Given the description of an element on the screen output the (x, y) to click on. 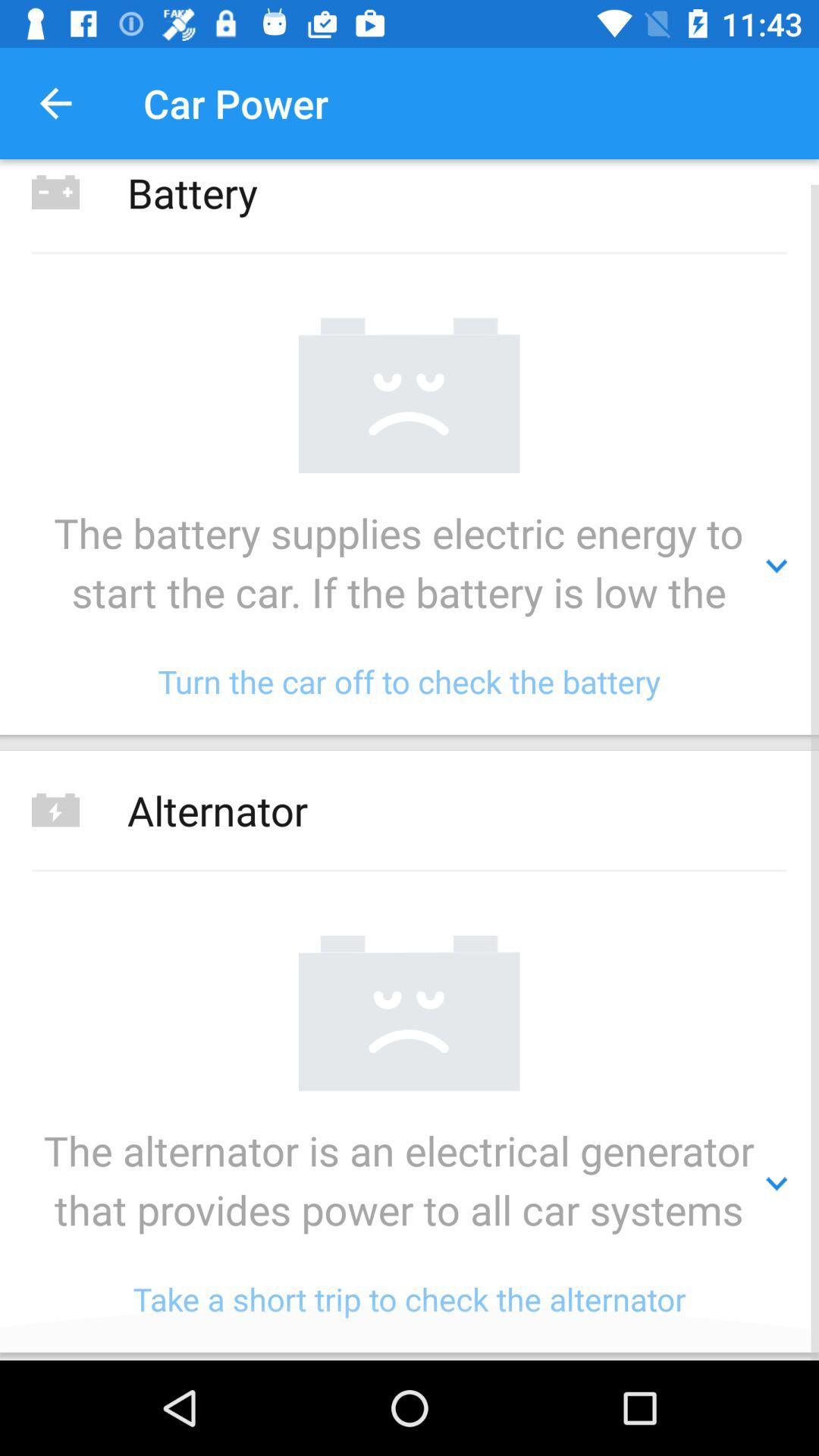
choose icon next to car power icon (55, 103)
